Given the description of an element on the screen output the (x, y) to click on. 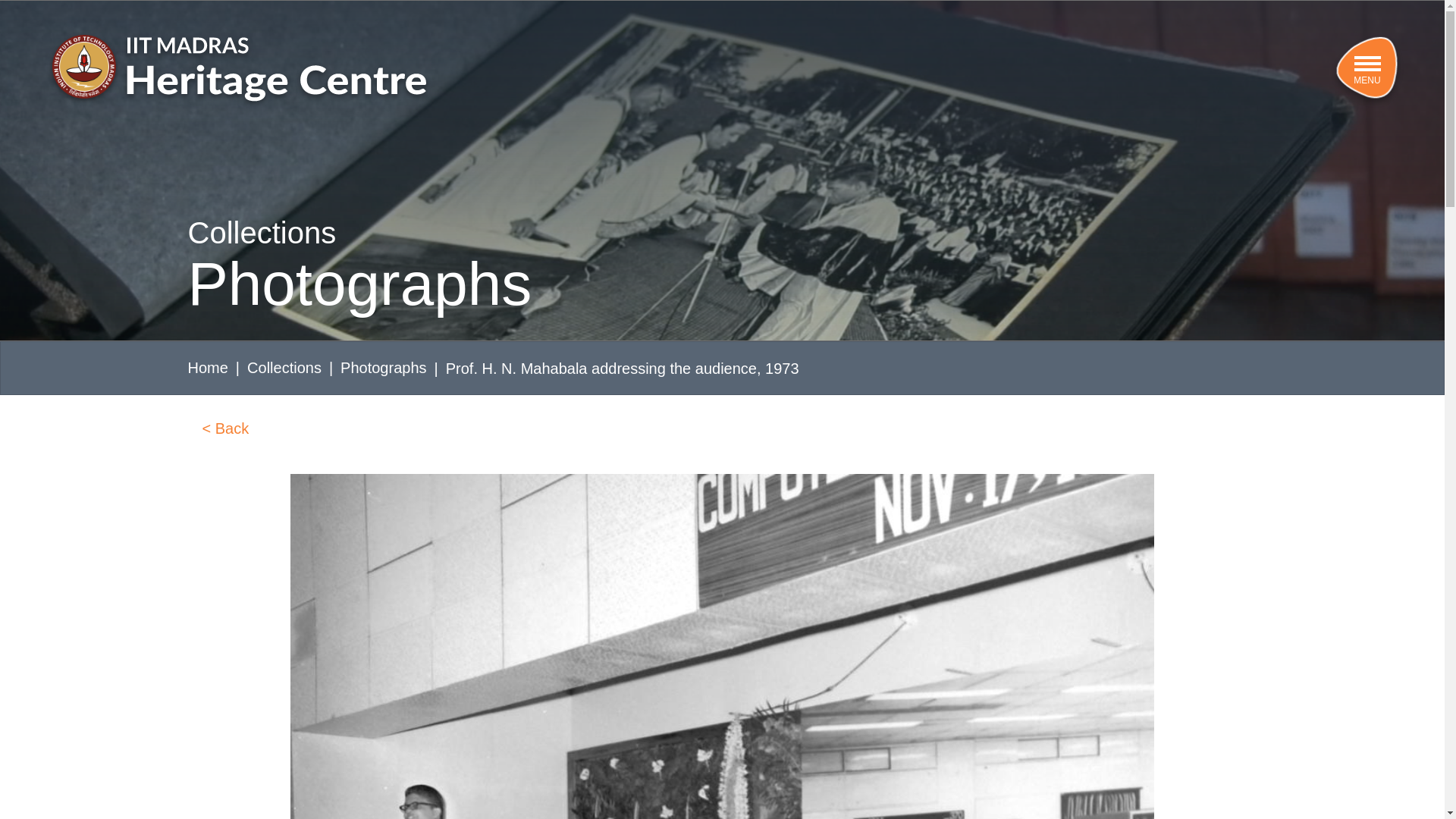
MENU (1366, 71)
